Given the description of an element on the screen output the (x, y) to click on. 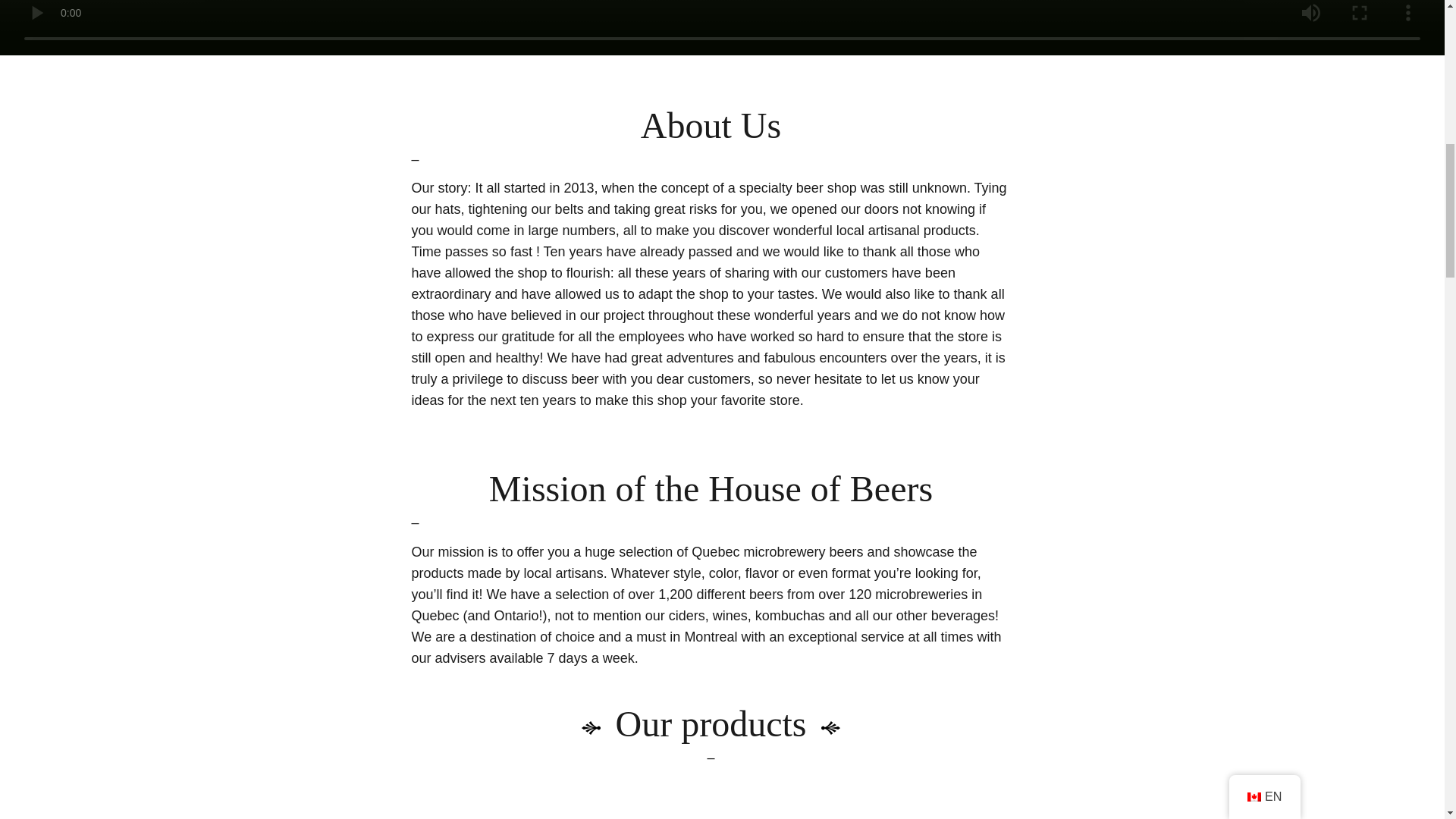
MICROBREWERY (710, 815)
